Given the description of an element on the screen output the (x, y) to click on. 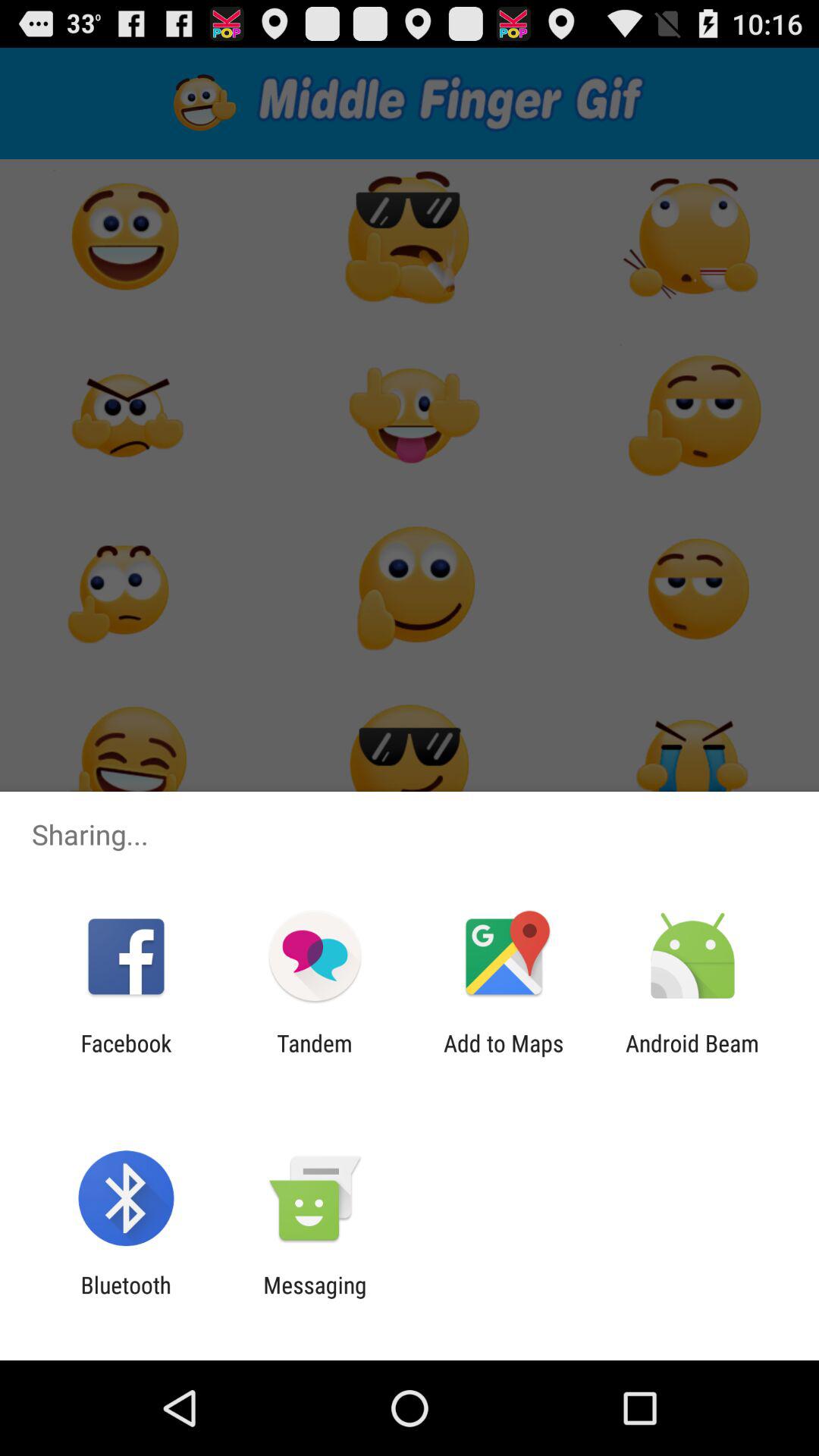
turn off the icon next to android beam (503, 1056)
